Given the description of an element on the screen output the (x, y) to click on. 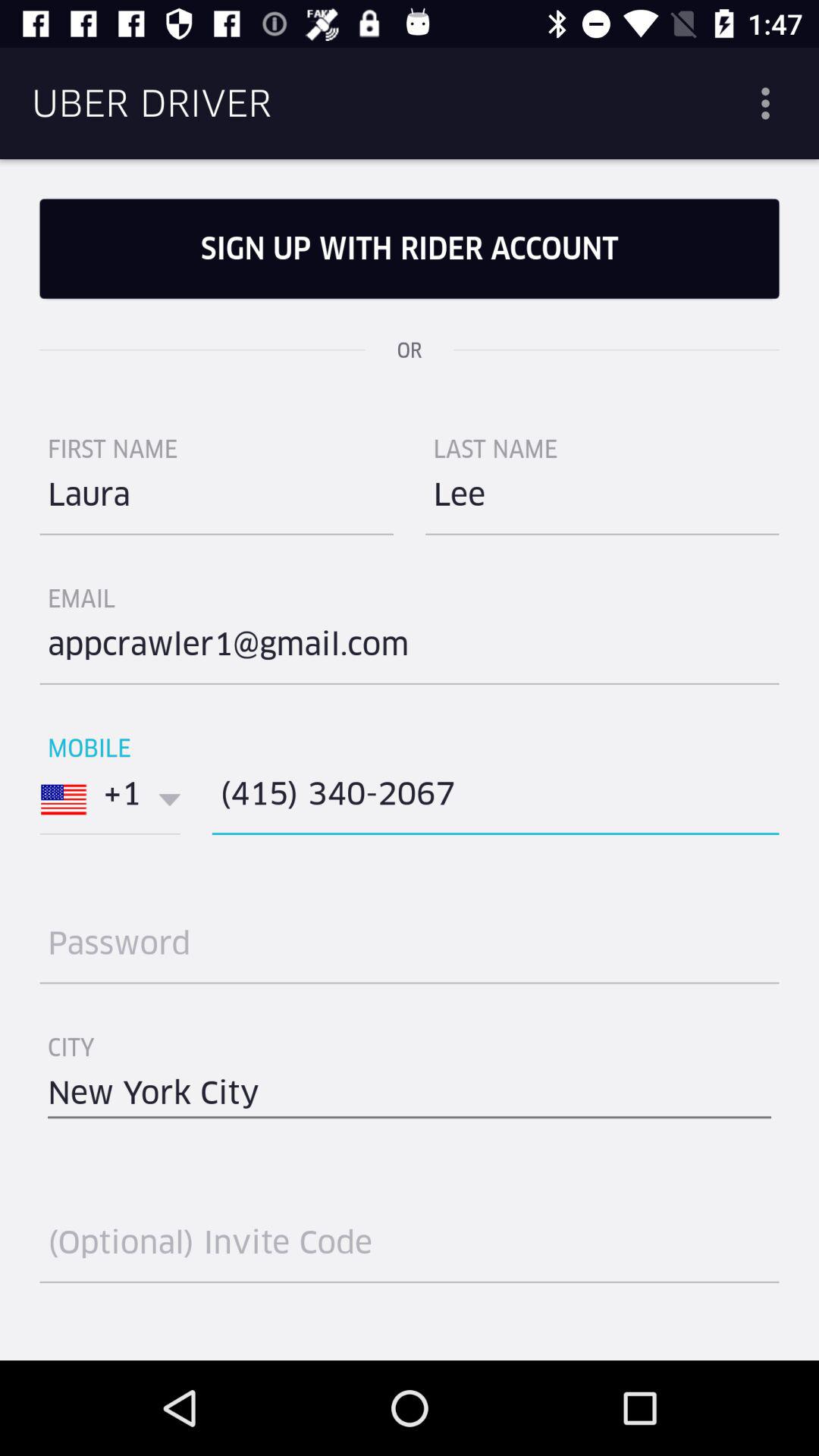
create strong passwords (409, 949)
